Given the description of an element on the screen output the (x, y) to click on. 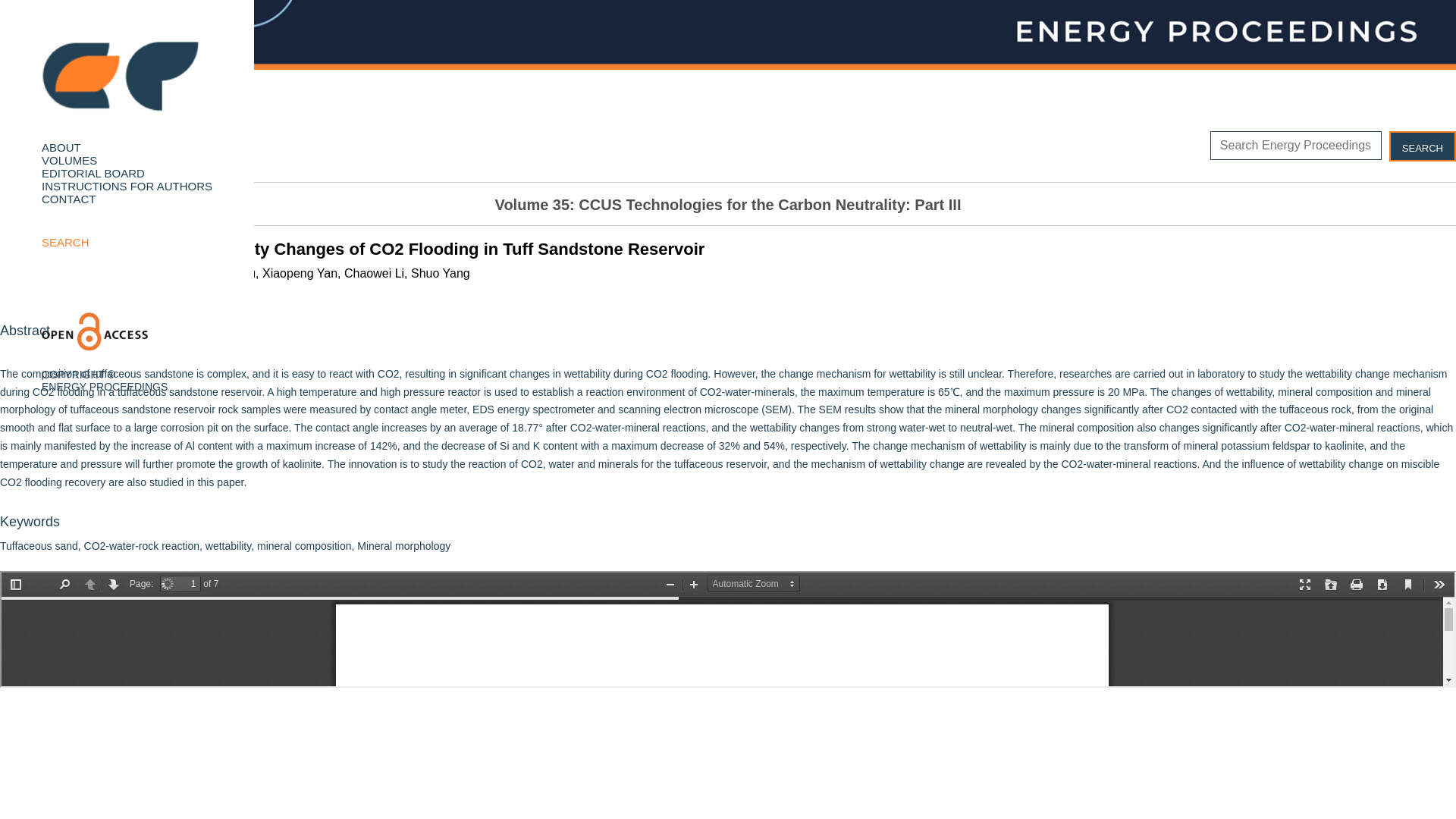
ABOUT (60, 147)
Contact (68, 198)
Instructions for Authors (126, 185)
Download full text in PDF (74, 152)
EDITORIAL BOARD (92, 172)
VOLUMES (68, 160)
CONTACT (68, 198)
EDITORIAL BOARD (92, 172)
SEARCH (65, 242)
Volumes (68, 160)
About (60, 147)
INSTRUCTIONS FOR AUTHORS (126, 185)
